Given the description of an element on the screen output the (x, y) to click on. 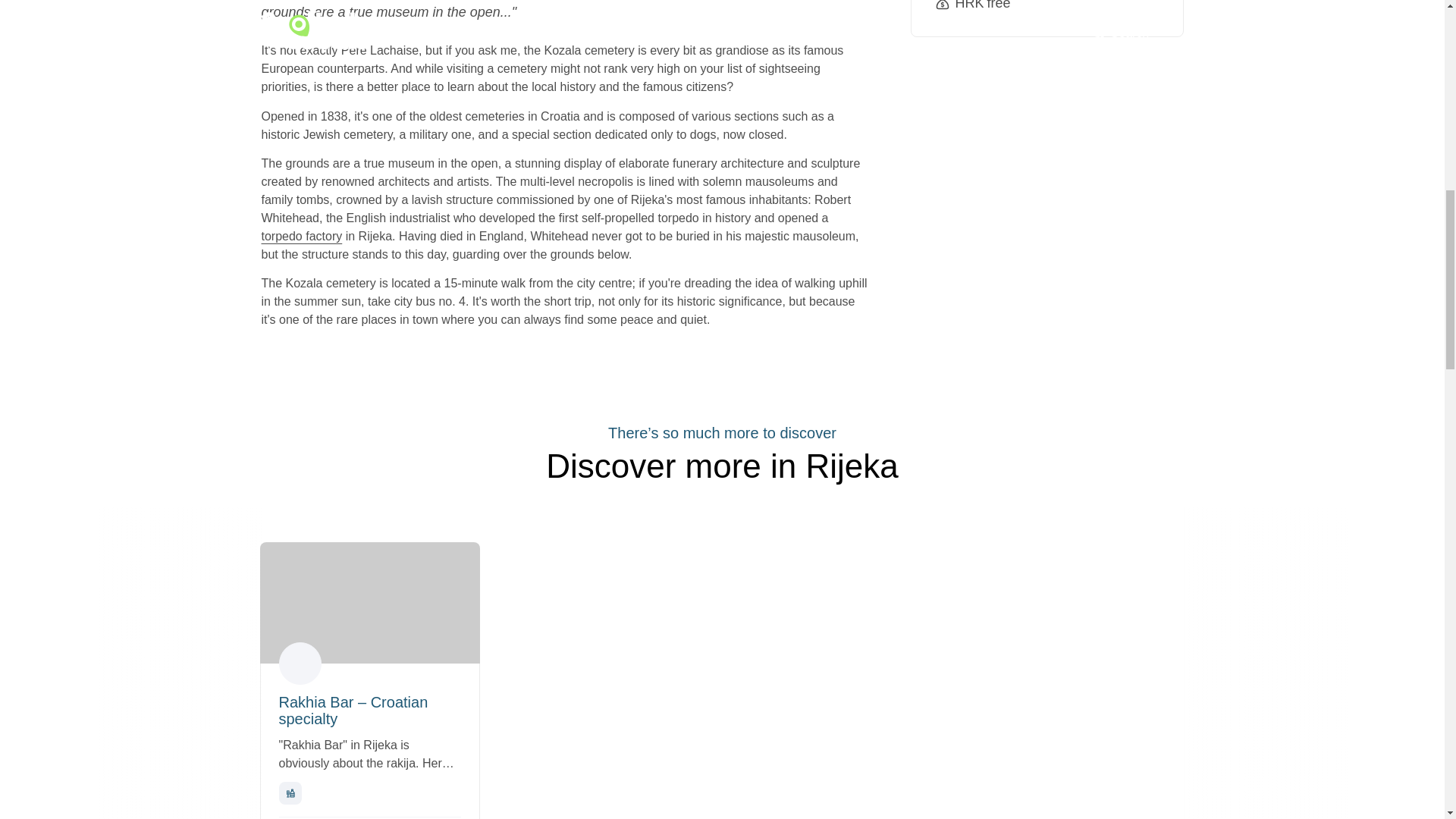
torpedo factory (301, 236)
torpedo factory (301, 236)
ivasusic (300, 662)
